Given the description of an element on the screen output the (x, y) to click on. 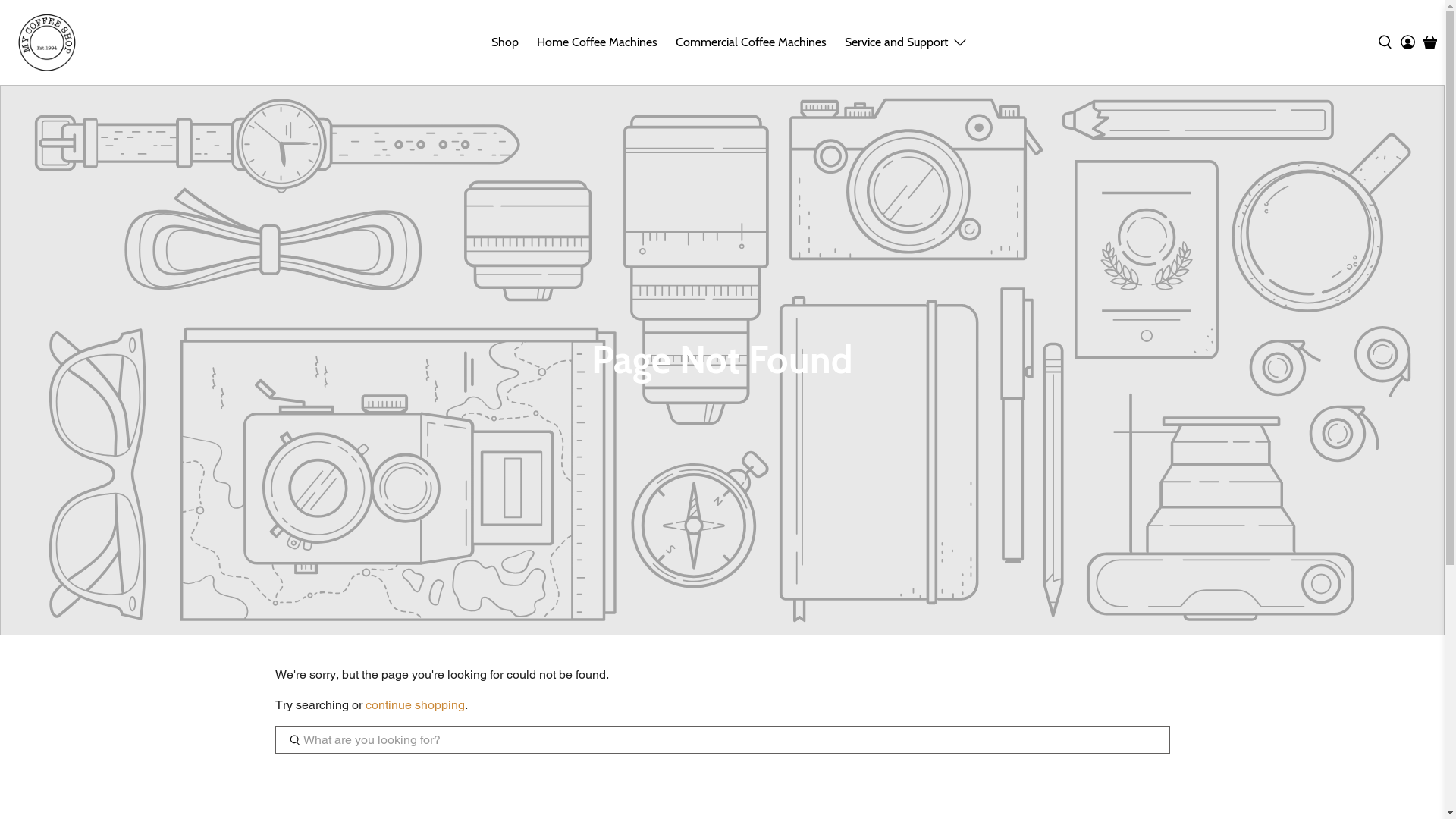
Home Coffee Machines Element type: text (596, 42)
Service and Support Element type: text (906, 42)
continue shopping Element type: text (414, 704)
Shop Element type: text (504, 42)
mycoffeeshop.com.au Element type: hover (46, 42)
Commercial Coffee Machines Element type: text (750, 42)
